Given the description of an element on the screen output the (x, y) to click on. 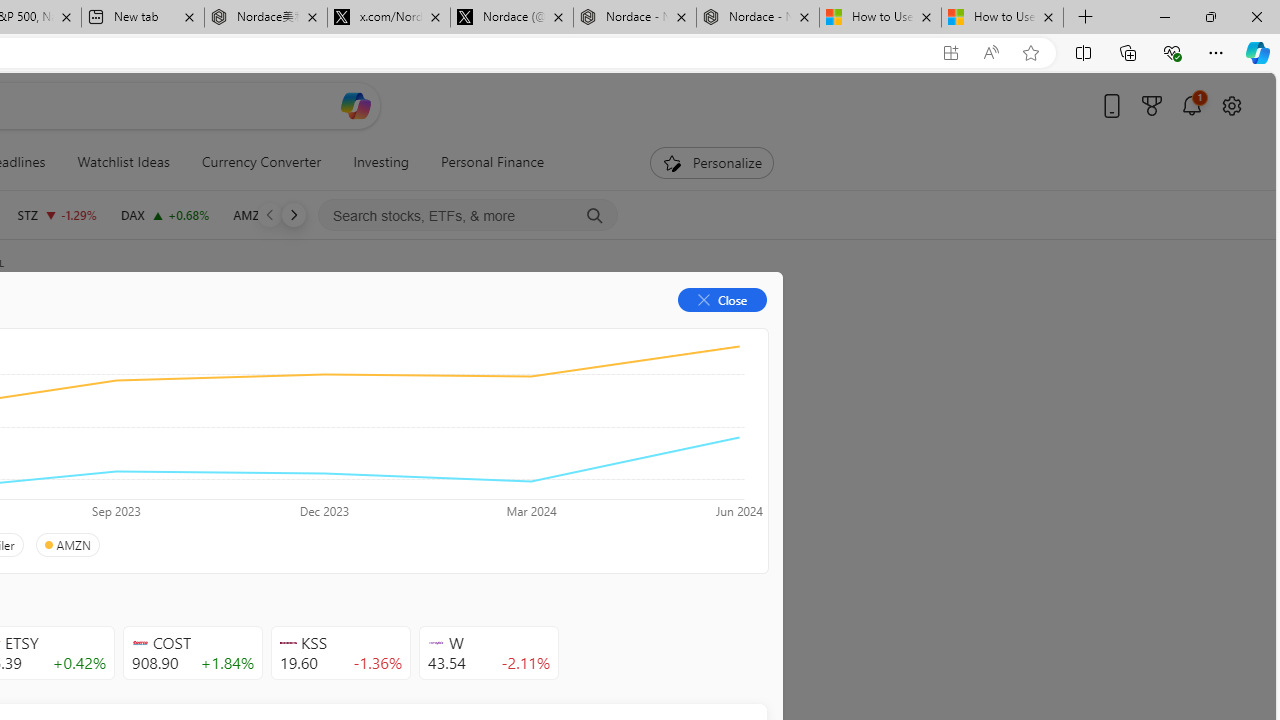
Class: autoSuggestIcon-DS-EntryPoint1-2 (436, 643)
STZ CONSTELLATION BRANDS, INC. decrease 239.98 -3.13 -1.29% (56, 214)
Previous (269, 214)
Leverage & Liquidity (95, 445)
Search stocks, ETFs, & more (468, 215)
